Given the description of an element on the screen output the (x, y) to click on. 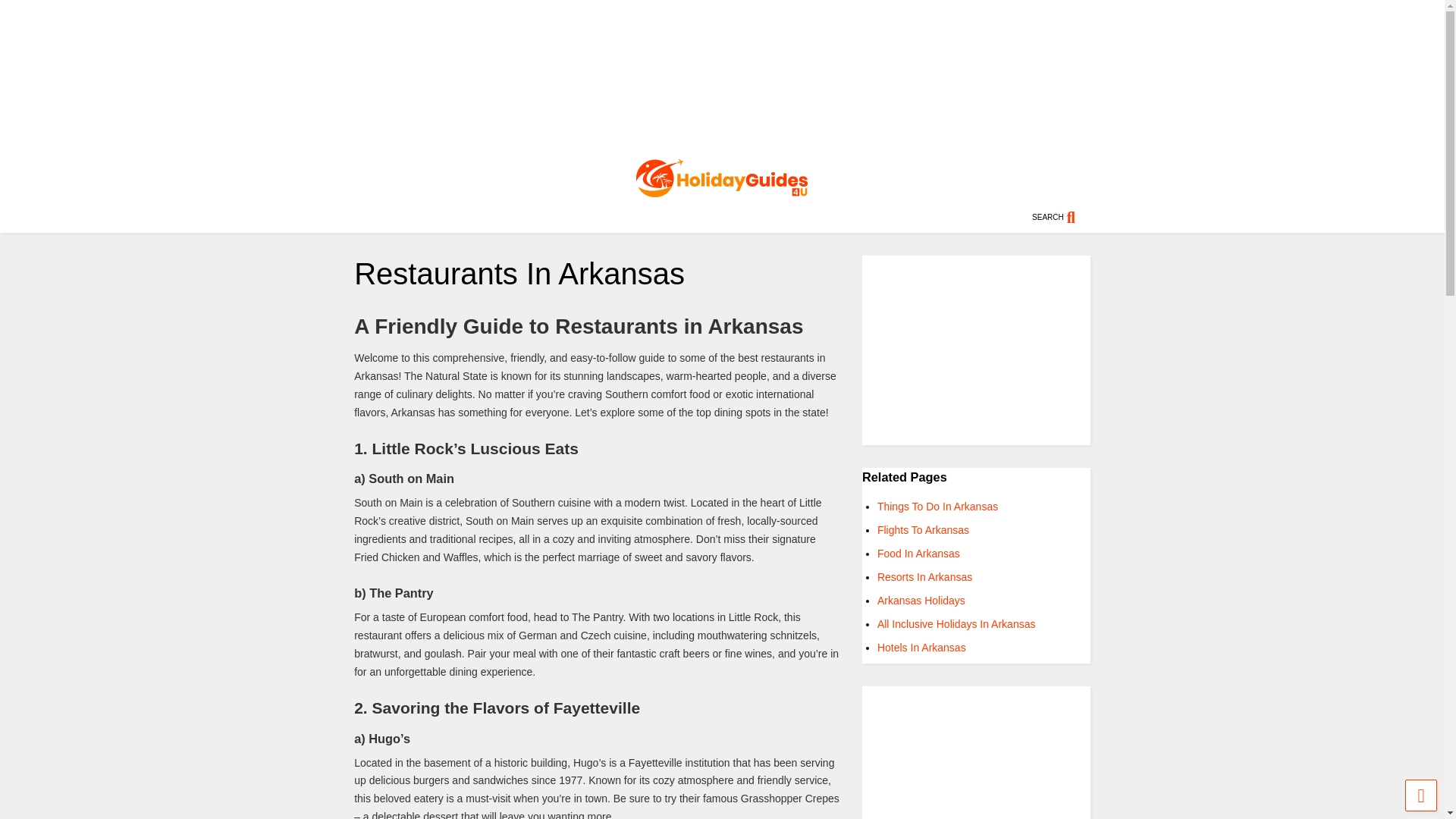
Advertisement (975, 350)
Flights To Arkansas (923, 530)
Advertisement (975, 752)
Food In Arkansas (918, 553)
Arkansas Holidays (921, 600)
SEARCH (1061, 217)
Advertisement (721, 75)
Hotels In Arkansas (921, 647)
Things To Do In Arkansas (937, 506)
Resorts In Arkansas (924, 576)
